Given the description of an element on the screen output the (x, y) to click on. 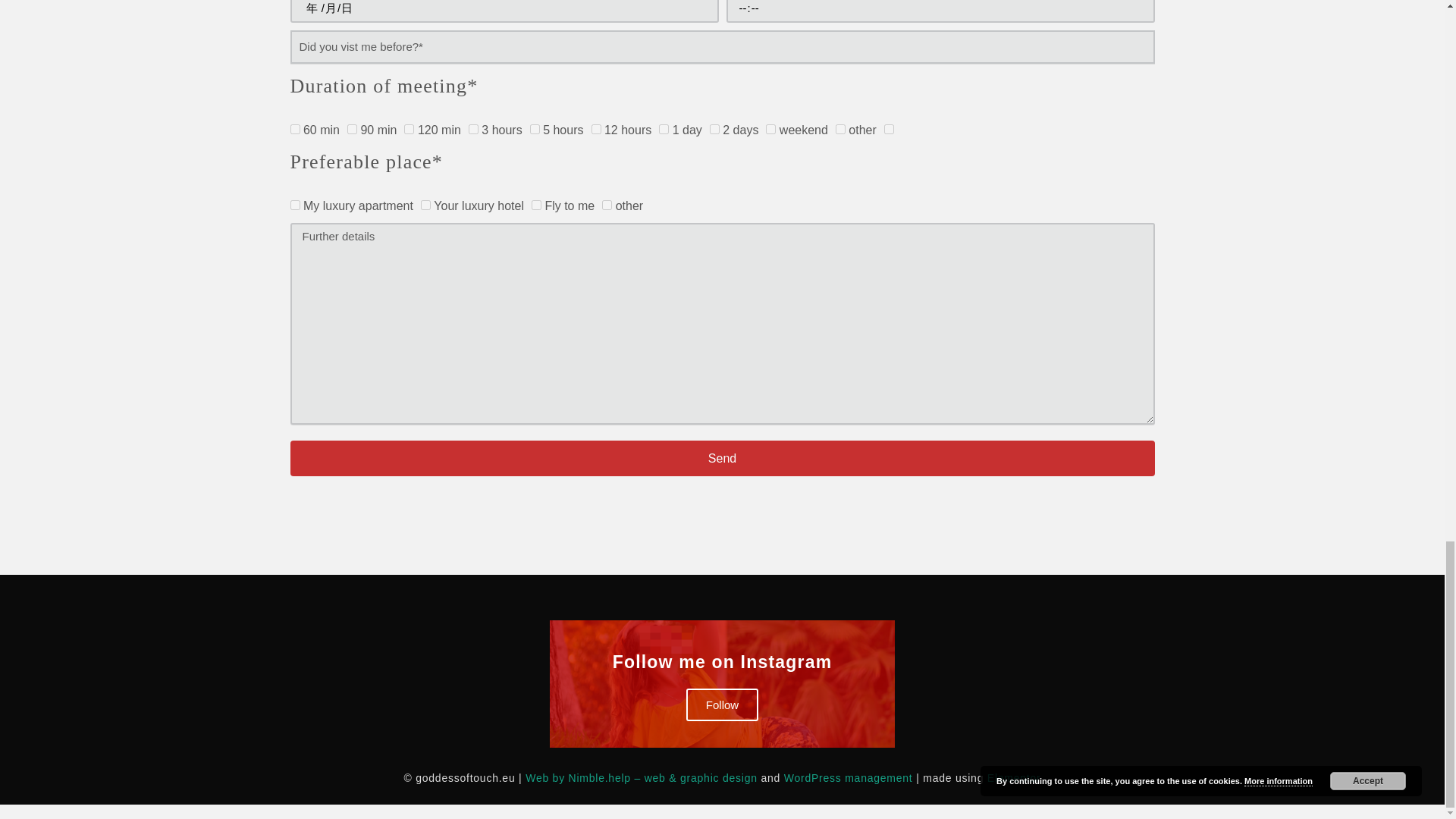
Elementor (1014, 777)
5 hours (534, 129)
weekend  (770, 129)
2 days (714, 129)
other  (840, 129)
Follow (721, 704)
60 min (294, 129)
WordPress management (848, 777)
90 min (351, 129)
12 hours (596, 129)
3 hours  (473, 129)
1 day (663, 129)
Send (721, 457)
120 min (408, 129)
